Given the description of an element on the screen output the (x, y) to click on. 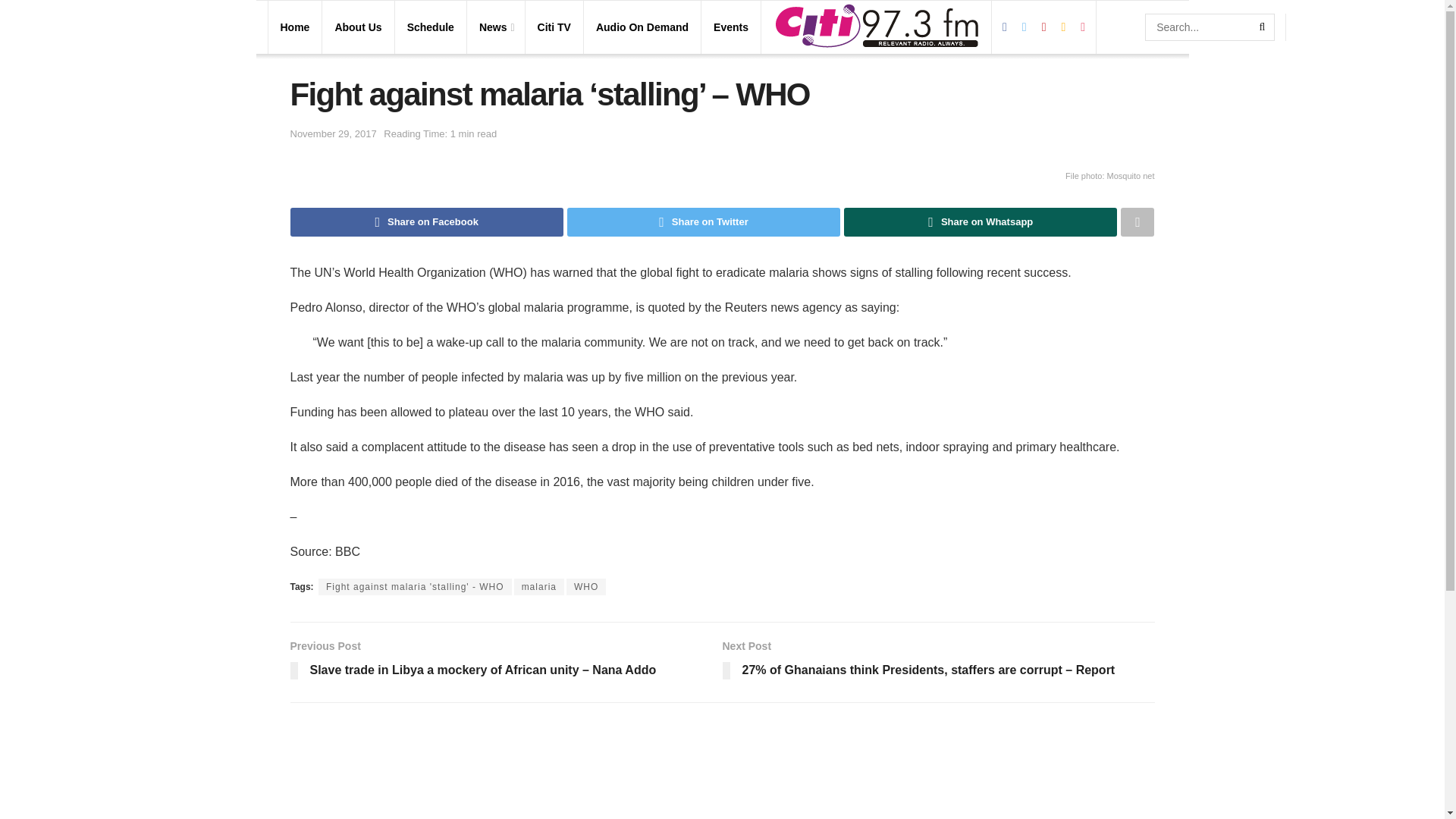
Share on Whatsapp (980, 222)
Audio On Demand (641, 26)
Share on Twitter (703, 222)
Events (730, 26)
File photo: Mosquito net (721, 174)
Schedule (430, 26)
About Us (357, 26)
Citi TV (553, 26)
Share on Facebook (425, 222)
Fight against malaria 'stalling' - WHO (415, 586)
November 29, 2017 (332, 133)
Advertisement (721, 772)
malaria (538, 586)
Home (295, 26)
WHO (585, 586)
